Given the description of an element on the screen output the (x, y) to click on. 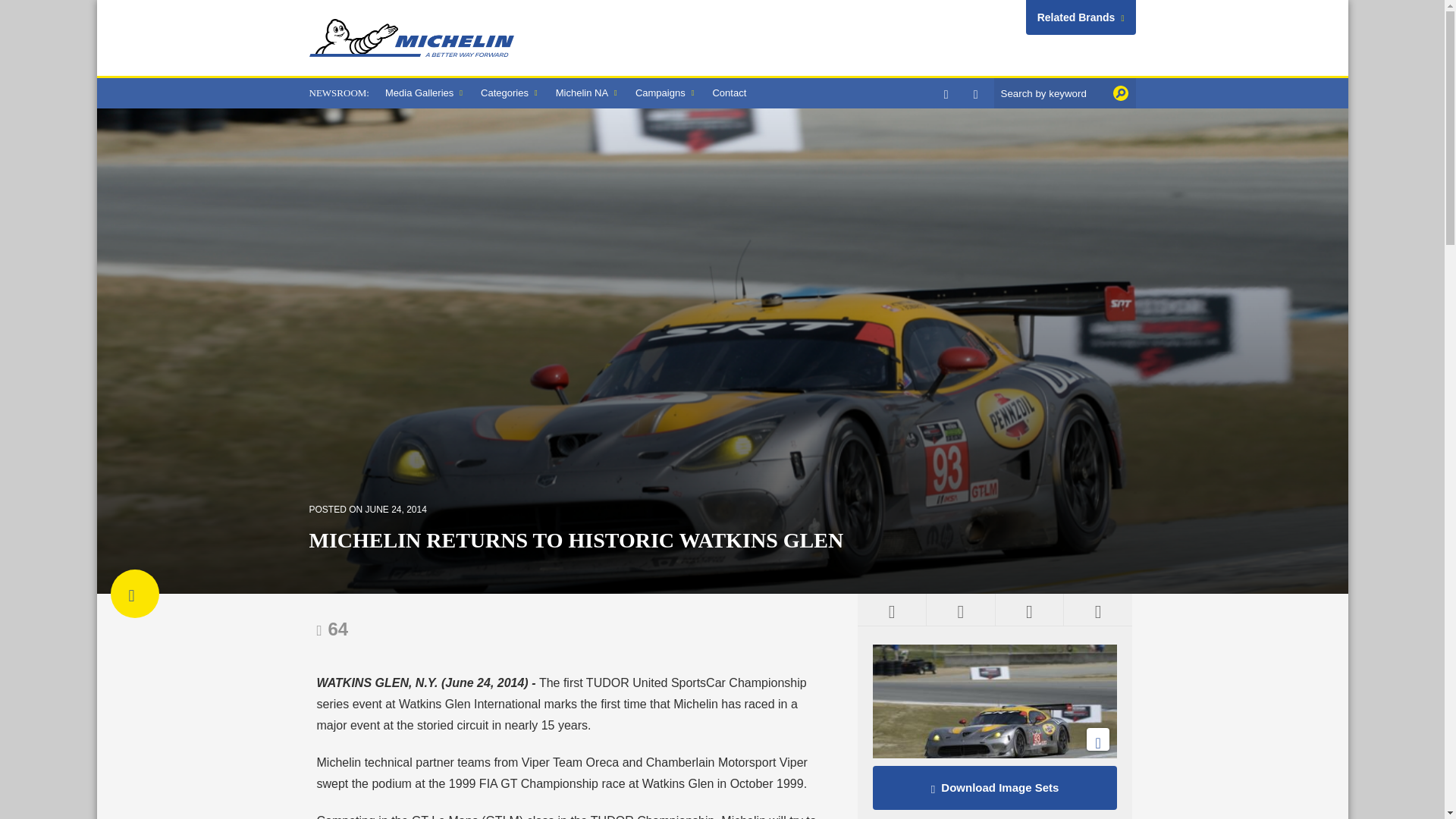
Get RSS Feed (891, 609)
Categories (509, 92)
Michelin NA (586, 92)
Share Count (333, 629)
Media Galleries (423, 92)
E-mail this article (1029, 609)
Related Brands (1080, 17)
Print this article (960, 609)
Share this article (1097, 609)
